Given the description of an element on the screen output the (x, y) to click on. 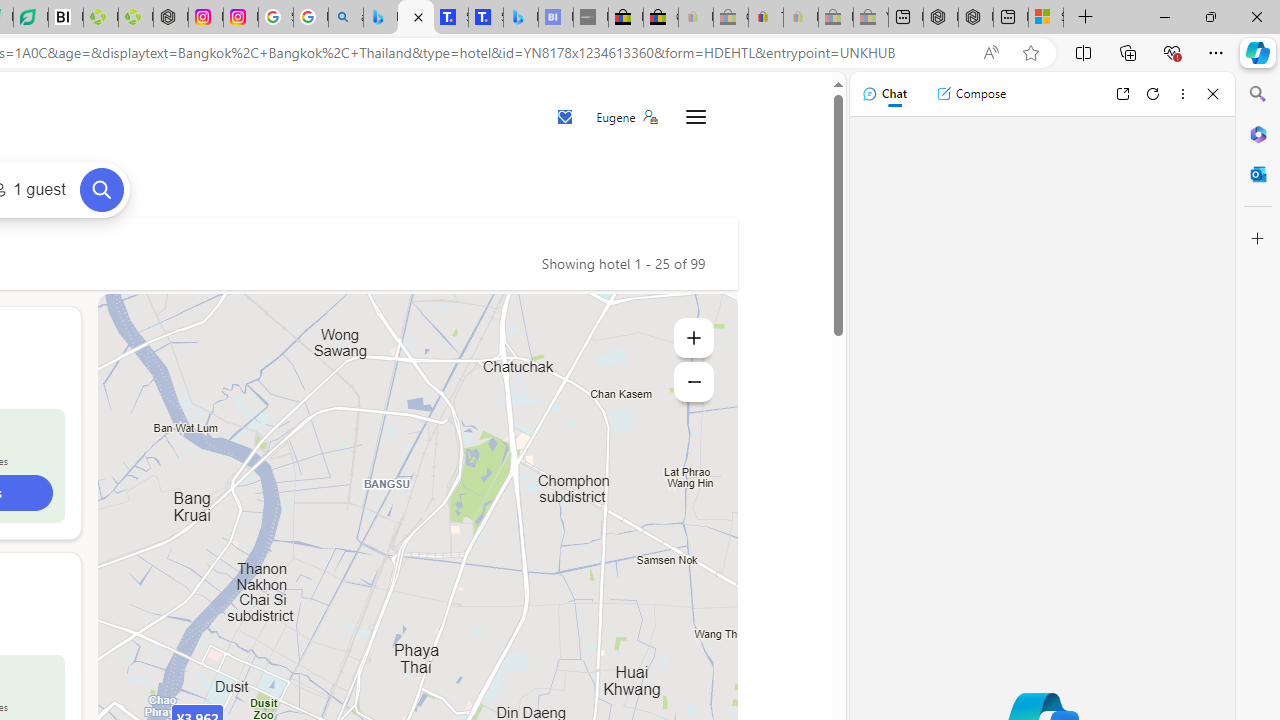
Microsoft Bing Travel - Flights from Hong Kong to Bangkok (380, 17)
Compose (971, 93)
Safety in Our Products - Google Safety Center (275, 17)
Save (565, 118)
